Given the description of an element on the screen output the (x, y) to click on. 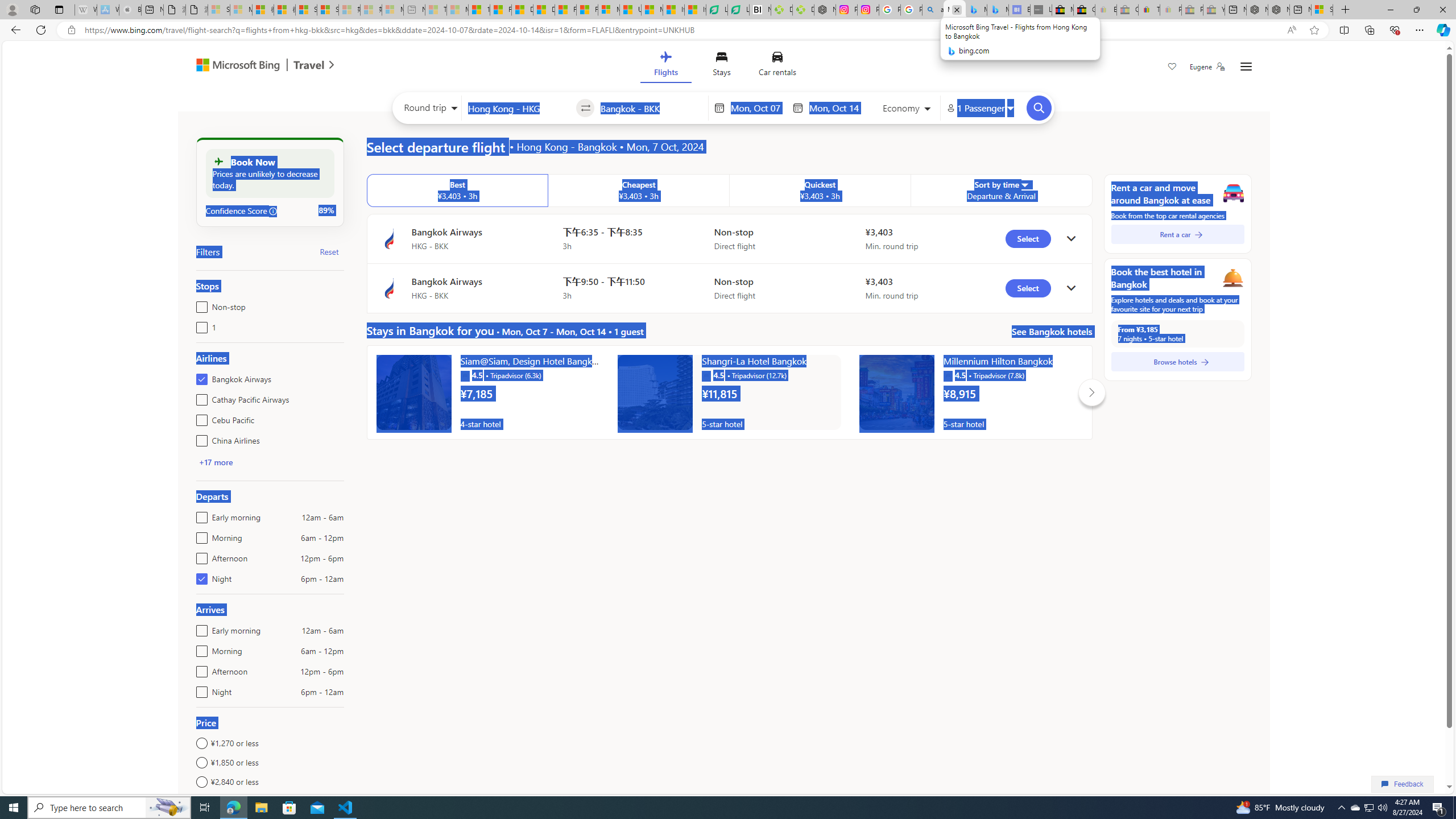
Yard, Garden & Outdoor Living - Sleeping (1214, 9)
Class: autosuggest-container full-height no-y-padding (651, 107)
hotel card image (896, 391)
Food and Drink - MSN (500, 9)
